Given the description of an element on the screen output the (x, y) to click on. 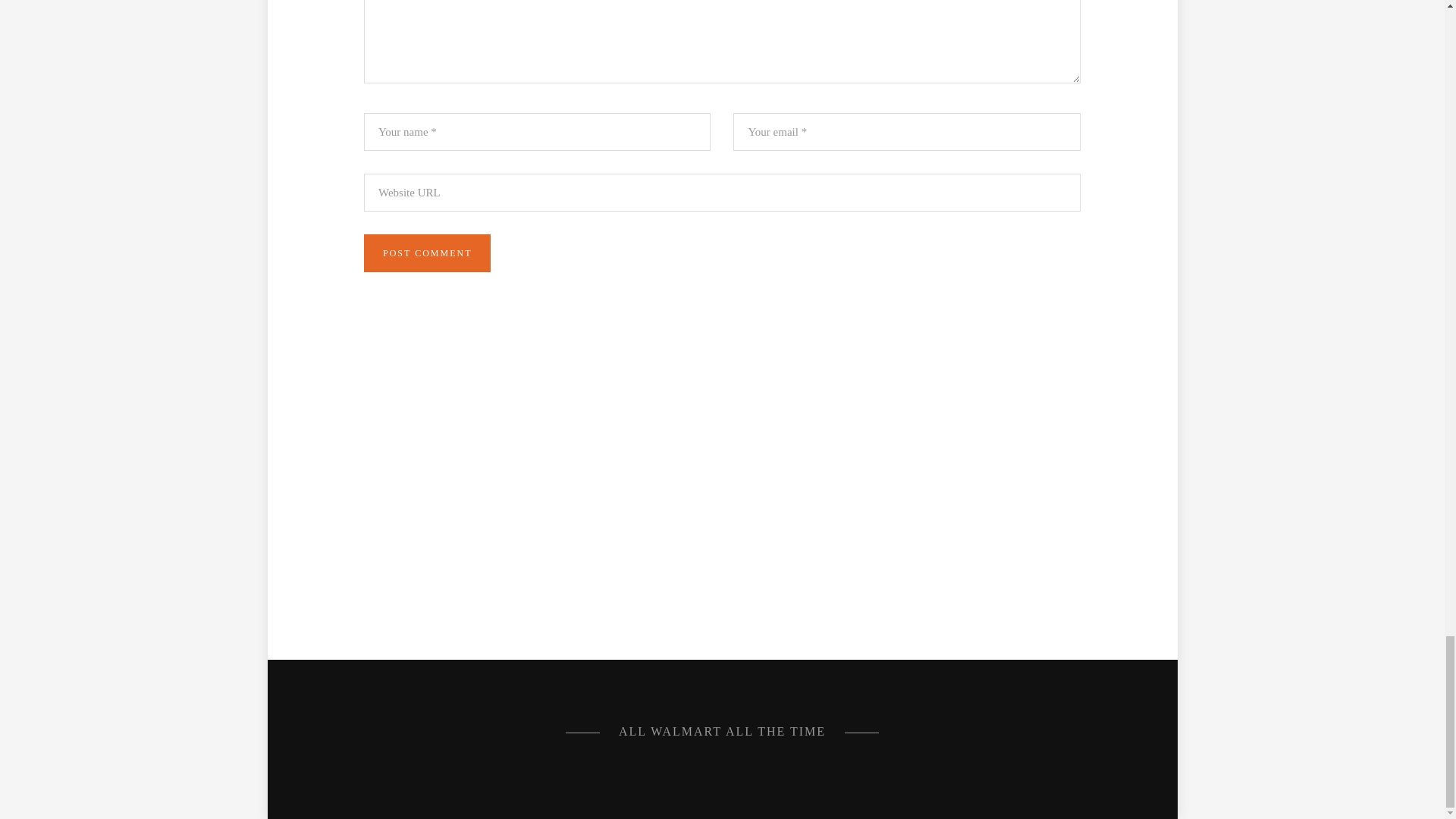
Post Comment (427, 252)
Post Comment (427, 252)
